Given the description of an element on the screen output the (x, y) to click on. 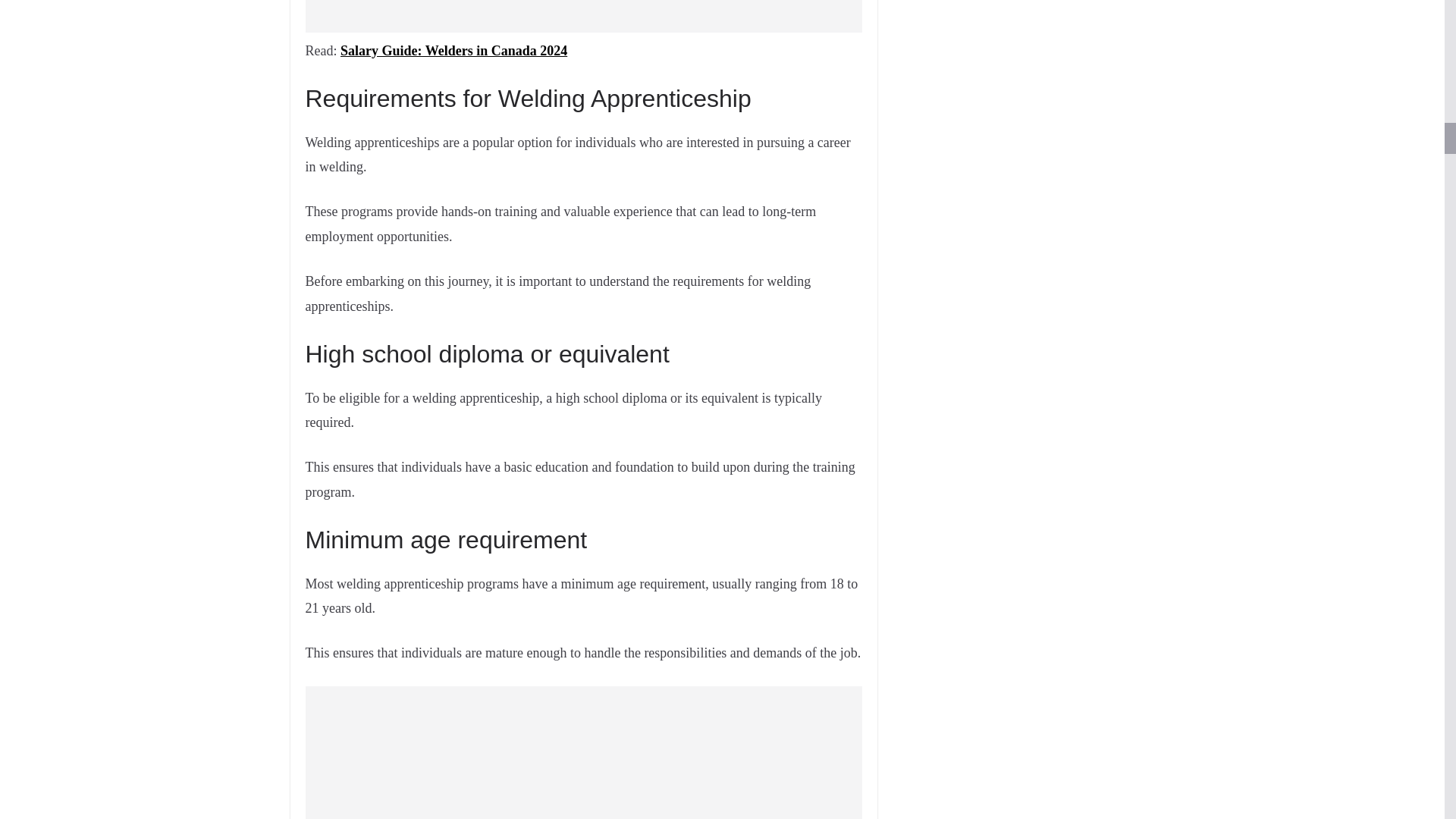
Salary Guide: Welders in Canada 2024 (453, 50)
